Given the description of an element on the screen output the (x, y) to click on. 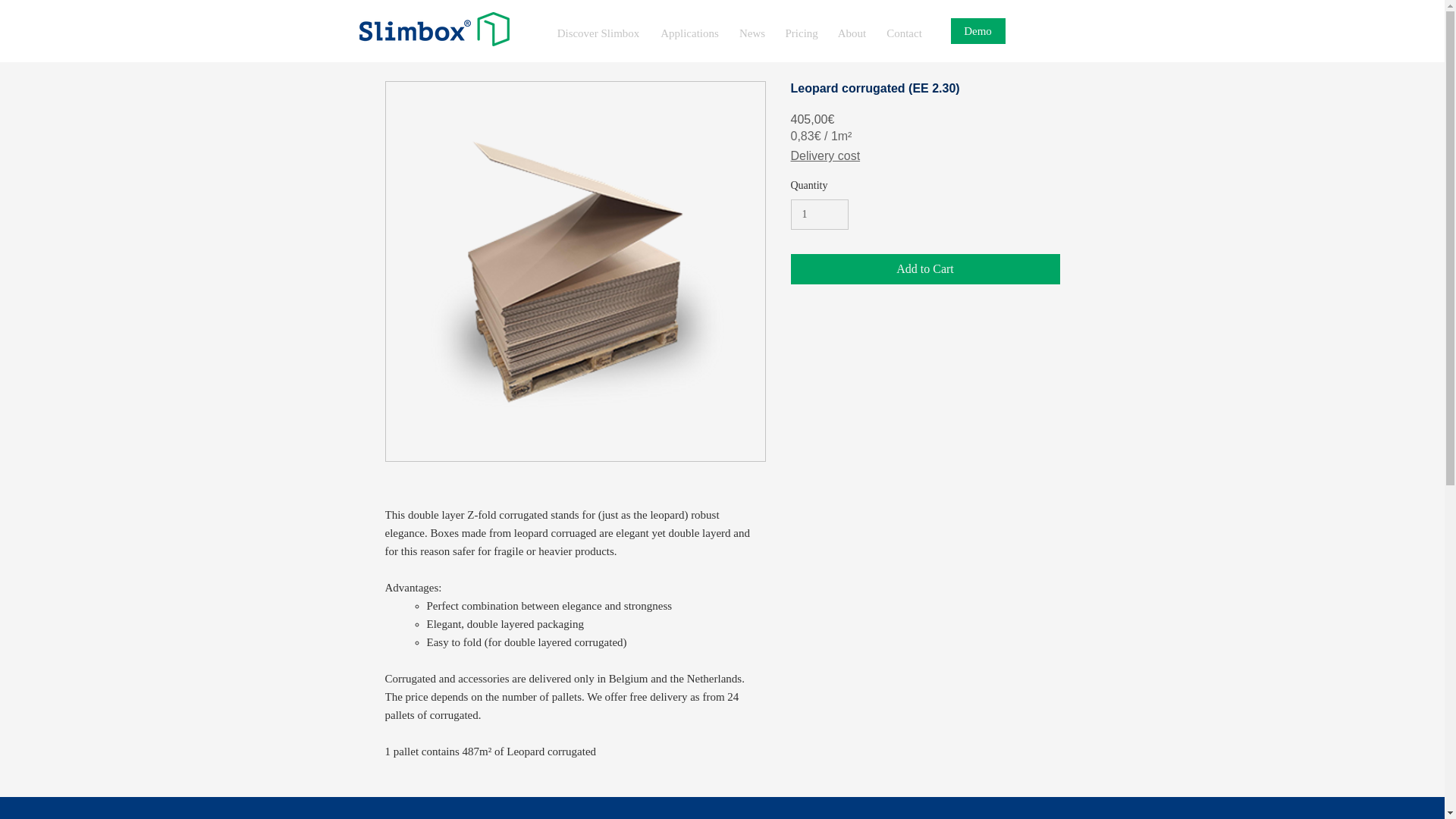
About (852, 26)
Delivery cost (825, 155)
Pricing (800, 26)
Add to Cart (924, 268)
Discover Slimbox (597, 26)
News (752, 26)
Contact (904, 26)
Applications (689, 26)
1 (818, 214)
Demo (978, 31)
